Given the description of an element on the screen output the (x, y) to click on. 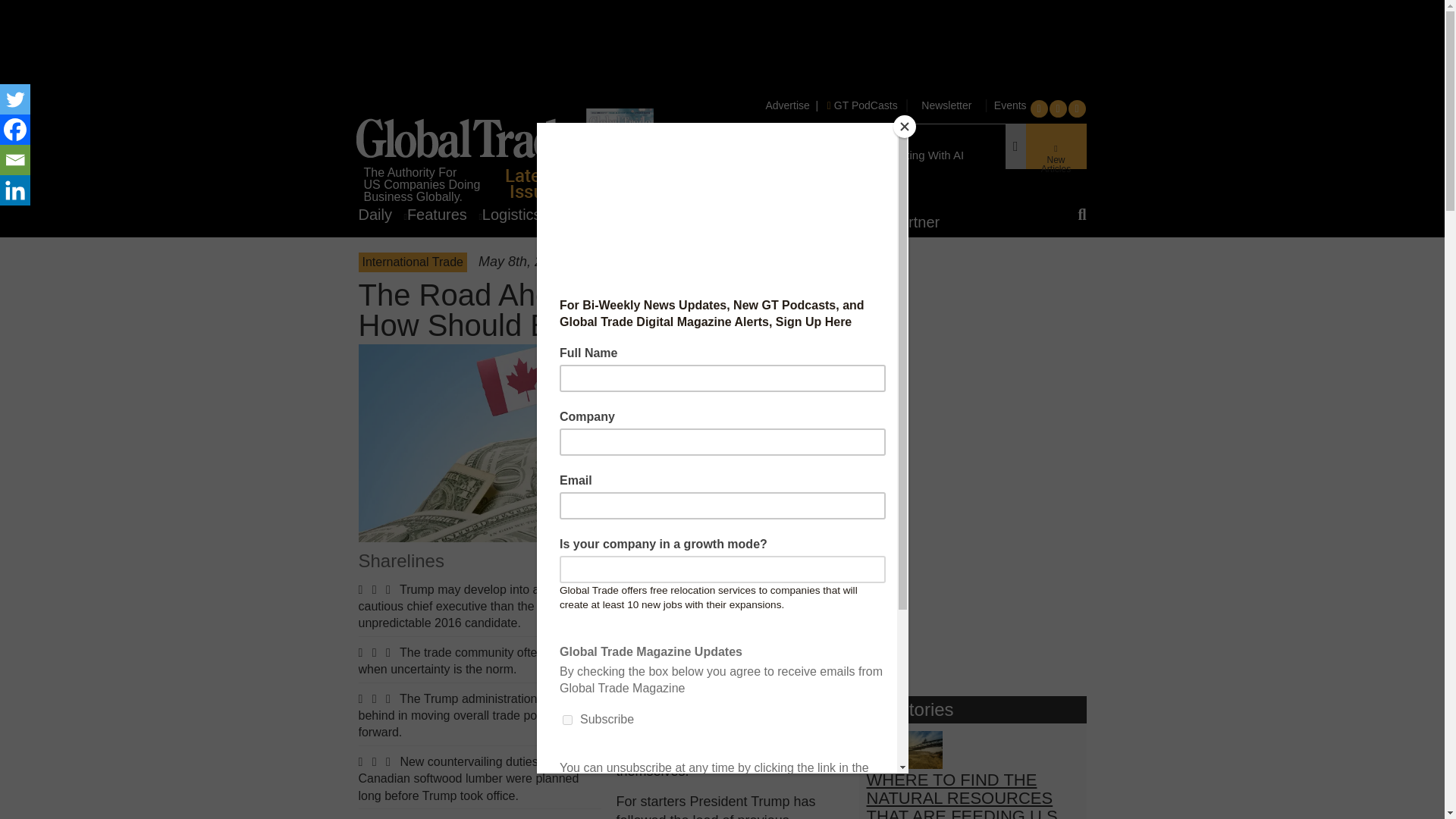
Enhance Accuracy in Logistics Demand Forecasting With AI (812, 154)
GT PodCasts (862, 105)
Hide (5, 219)
  Events  (1008, 105)
Facebook (15, 129)
Daily (382, 214)
Email (15, 159)
Twitter (15, 99)
Newsletter (945, 105)
Linkedin (15, 190)
